Given the description of an element on the screen output the (x, y) to click on. 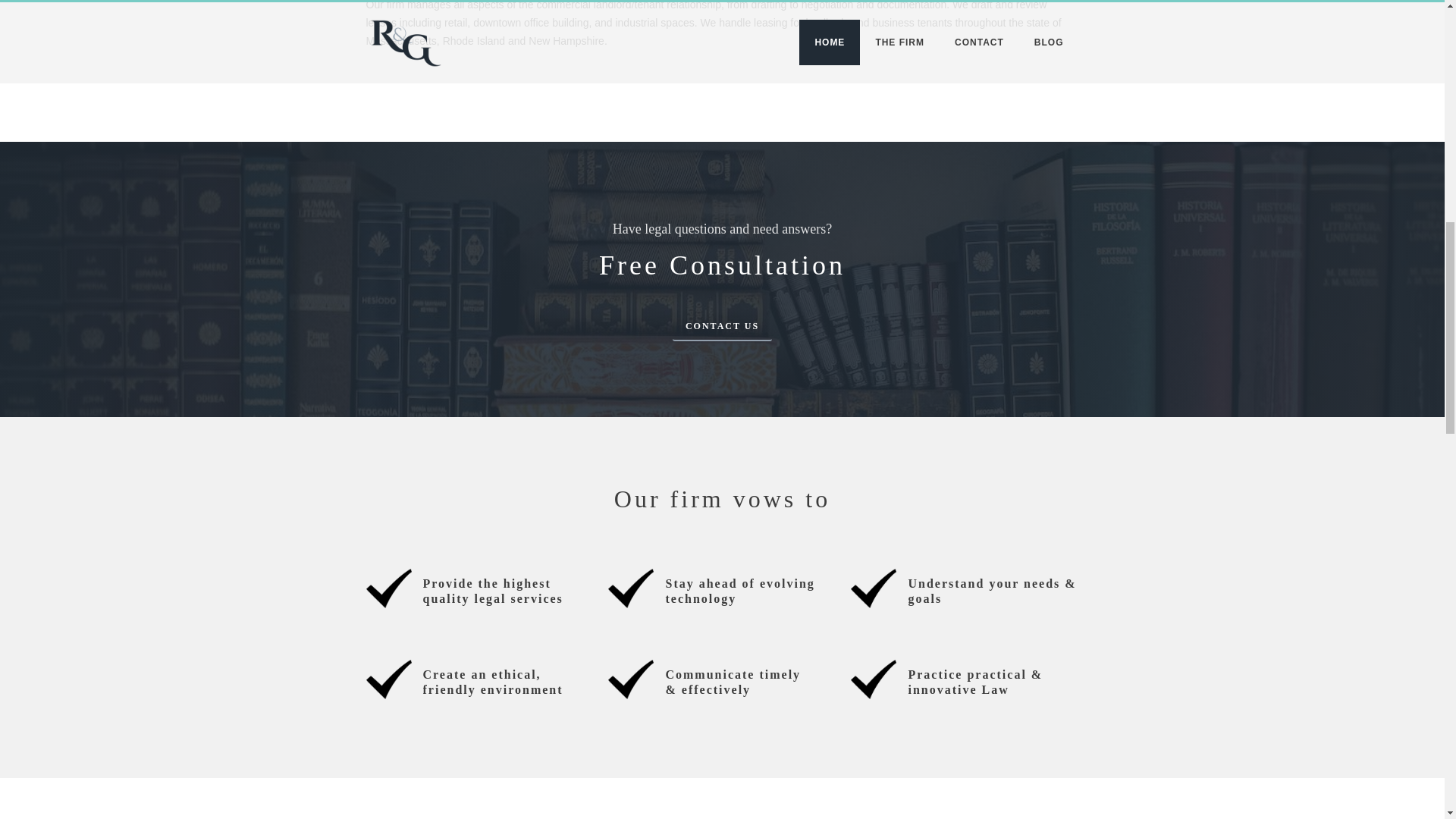
CONTACT US (721, 325)
